Given the description of an element on the screen output the (x, y) to click on. 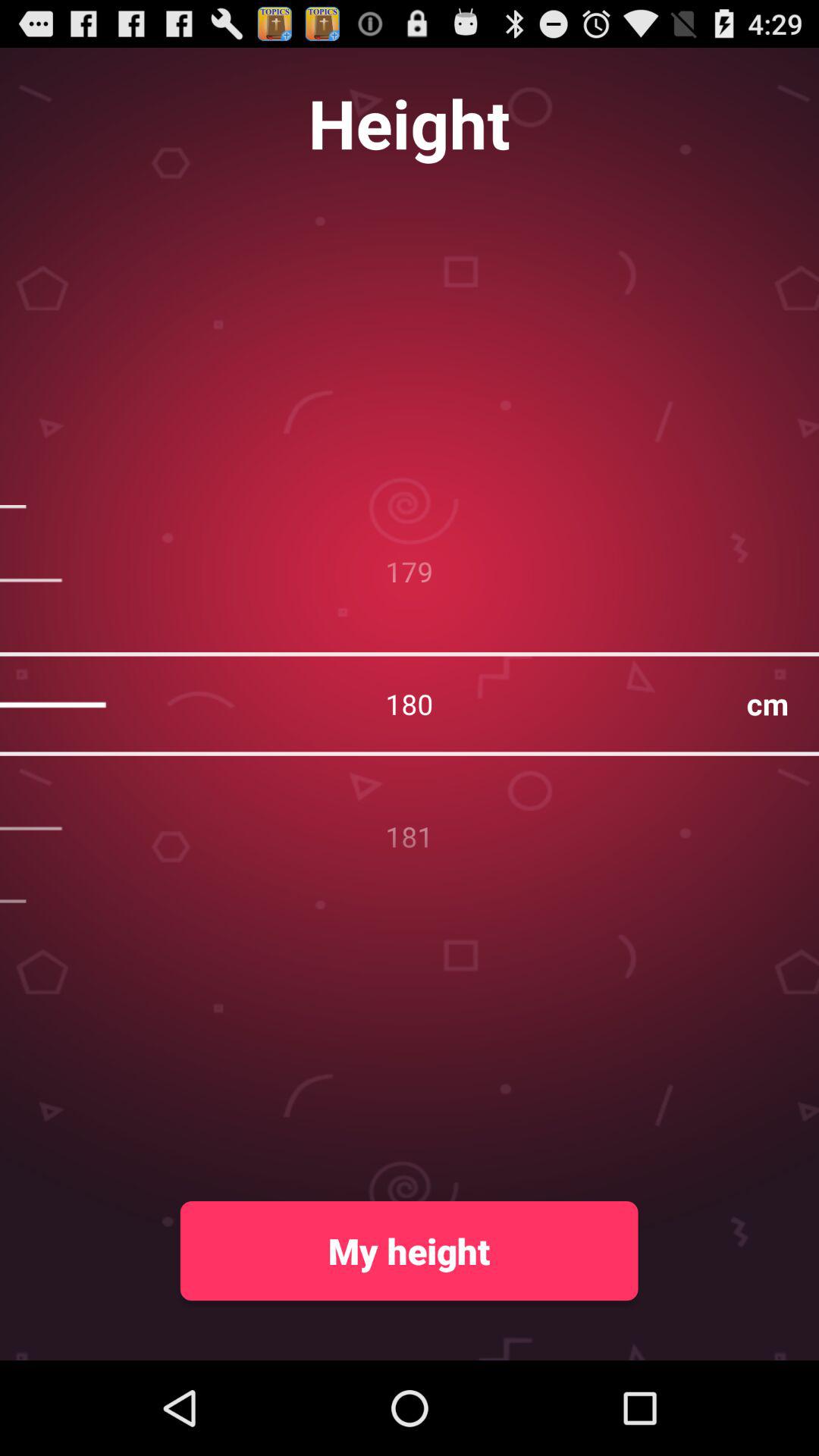
flip until the 180 (409, 703)
